Given the description of an element on the screen output the (x, y) to click on. 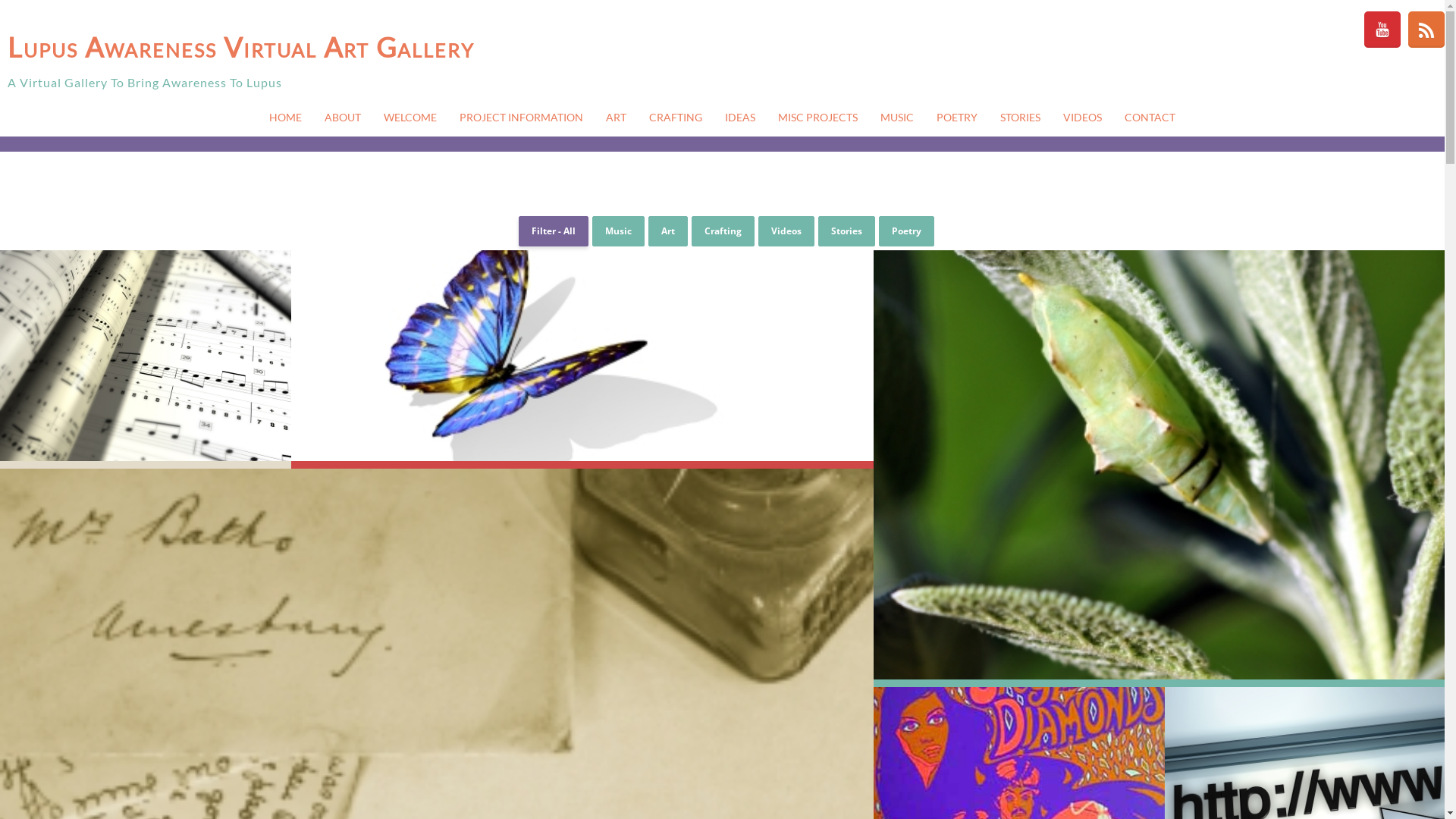
YouTube Element type: hover (1382, 29)
ART Element type: text (615, 117)
POETRY Element type: text (956, 117)
ABOUT Element type: text (342, 117)
IDEAS Element type: text (739, 117)
CONTACT Element type: text (1149, 117)
MUSIC Element type: text (897, 117)
WELCOME Element type: text (410, 117)
HOME Element type: text (285, 117)
STORIES Element type: text (1019, 117)
Lupus Awareness Virtual Art Gallery Element type: text (327, 46)
RSS Element type: hover (1426, 29)
MISC PROJECTS Element type: text (817, 117)
CRAFTING Element type: text (675, 117)
VIDEOS Element type: text (1082, 117)
PROJECT INFORMATION Element type: text (521, 117)
